Given the description of an element on the screen output the (x, y) to click on. 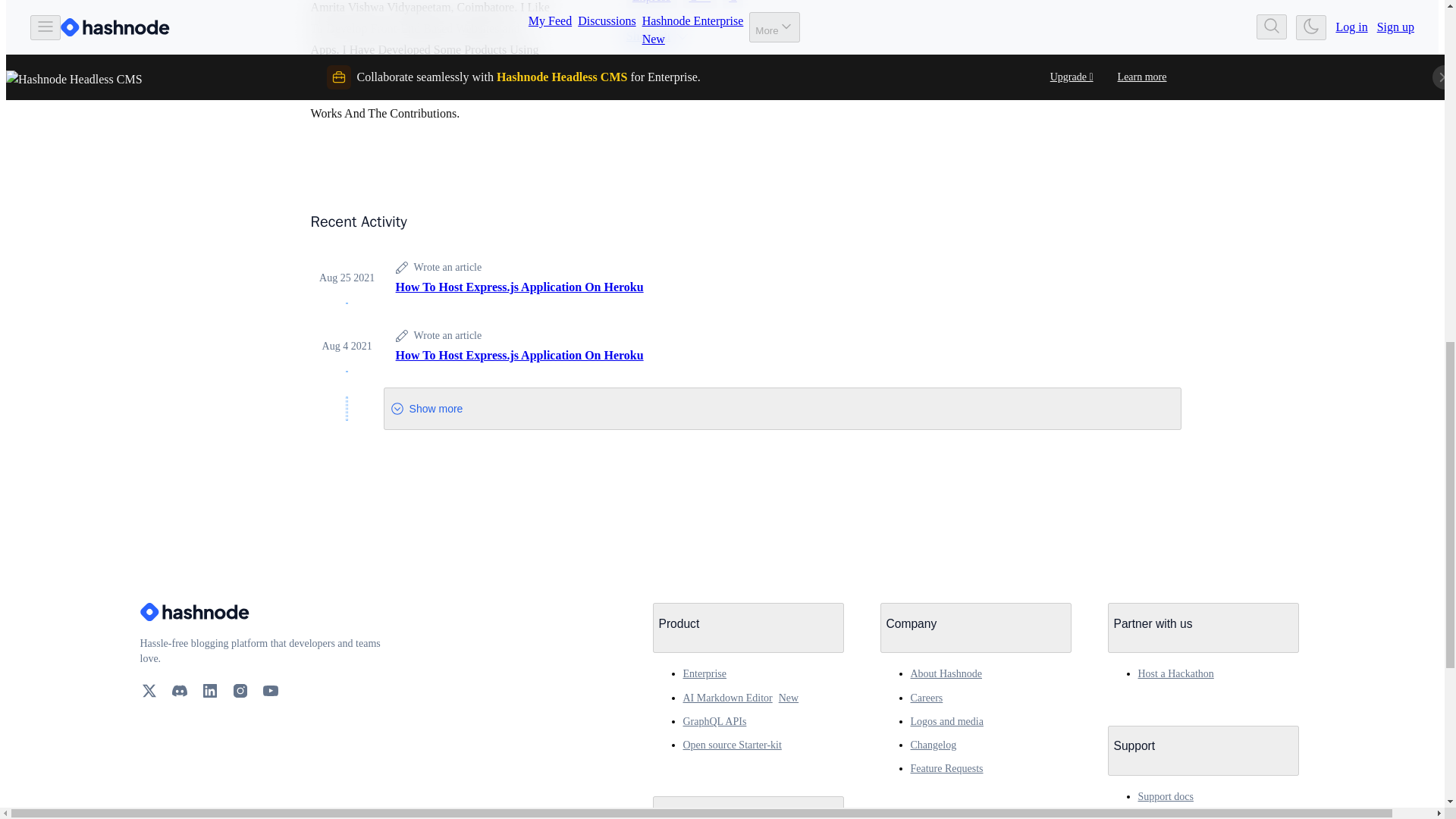
Express (651, 4)
C (732, 4)
status (209, 746)
Hashnode (260, 611)
